Given the description of an element on the screen output the (x, y) to click on. 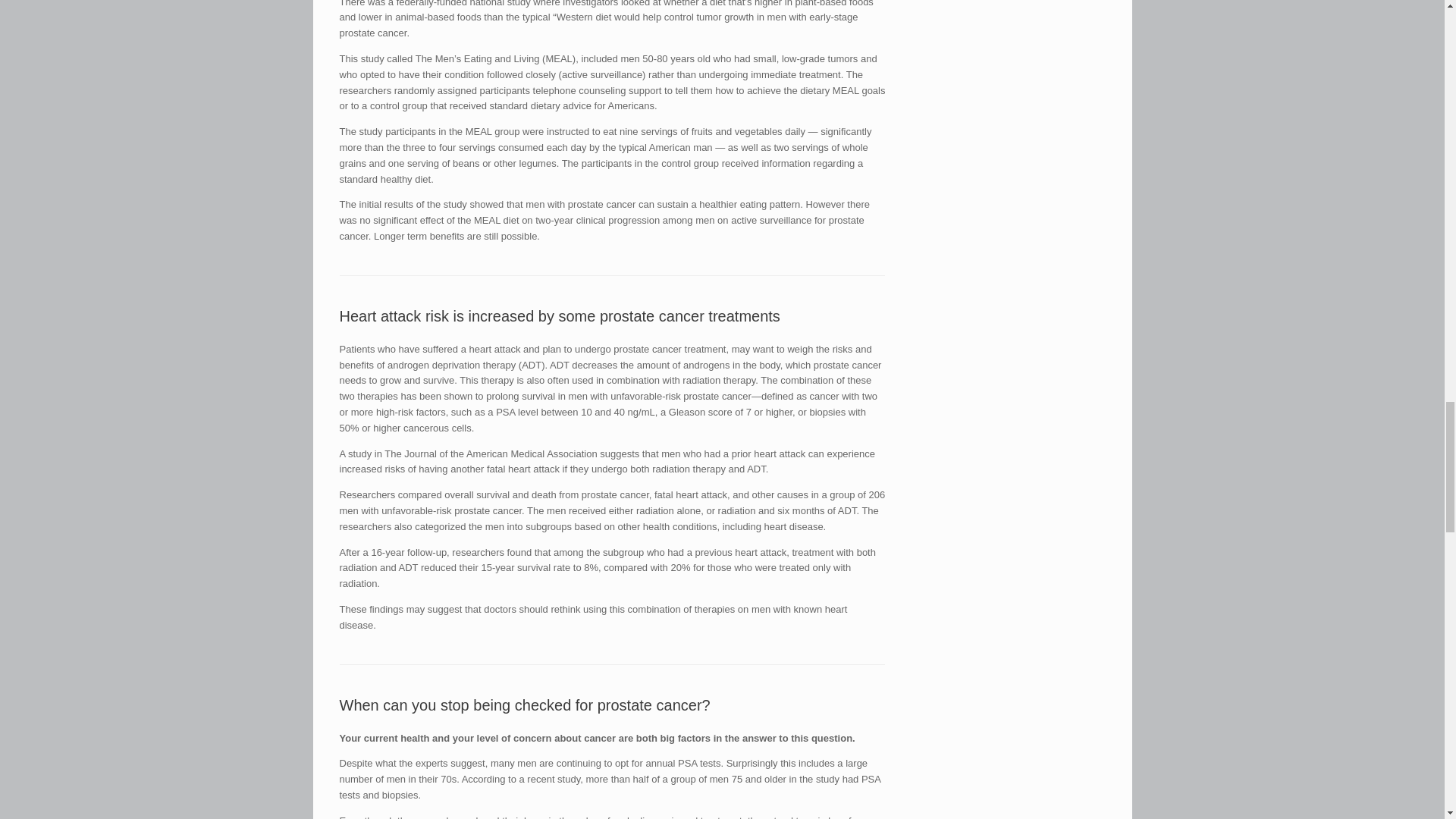
When can you stop being checked for prostate cancer? (524, 704)
